Given the description of an element on the screen output the (x, y) to click on. 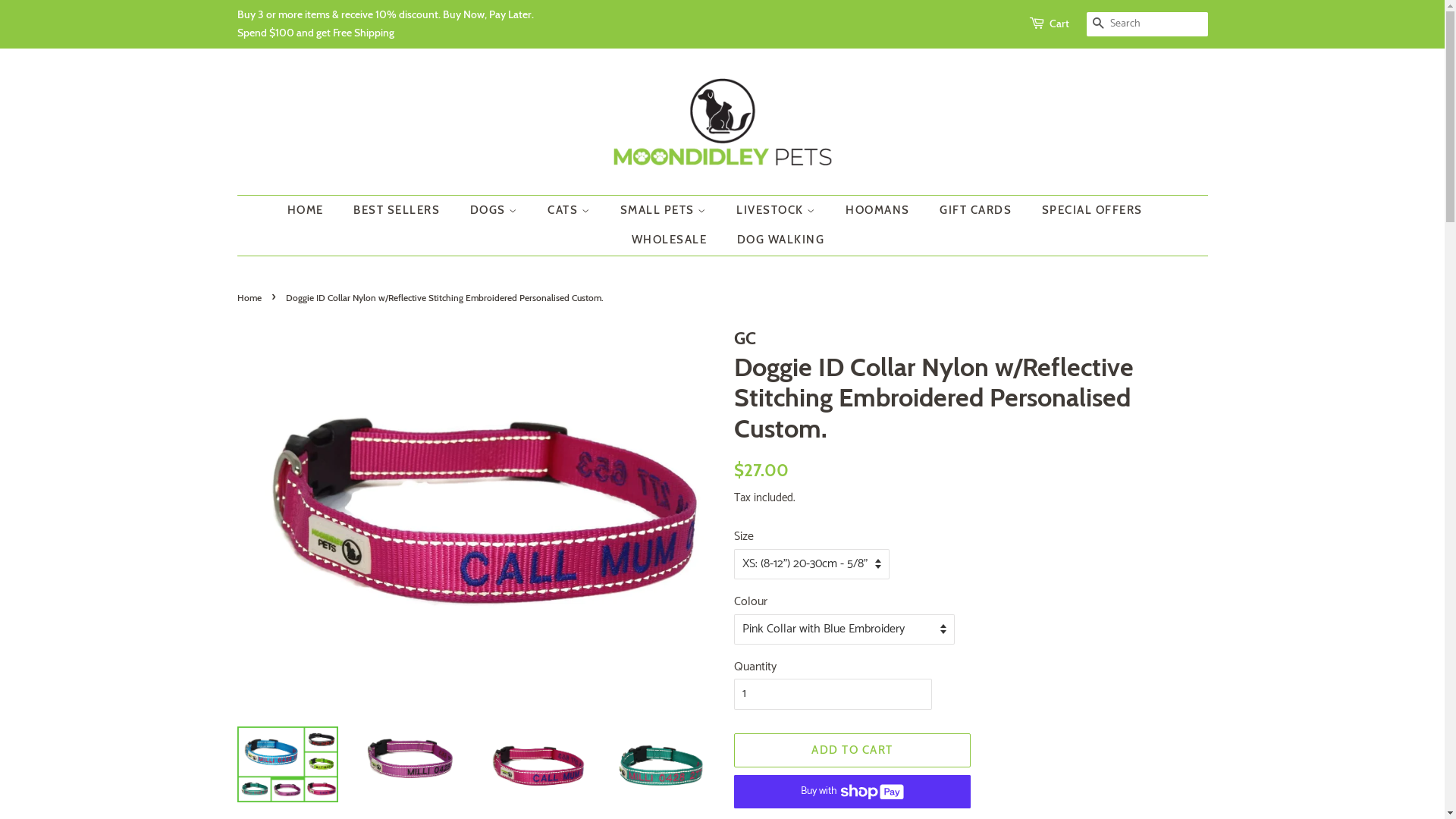
SMALL PETS Element type: text (664, 210)
ADD TO CART Element type: text (852, 750)
HOOMANS Element type: text (879, 210)
HOME Element type: text (312, 210)
Home Element type: text (250, 297)
CATS Element type: text (570, 210)
SEARCH Element type: text (1097, 24)
DOGS Element type: text (495, 210)
SPECIAL OFFERS Element type: text (1093, 210)
LIVESTOCK Element type: text (777, 210)
Cart Element type: text (1059, 24)
GIFT CARDS Element type: text (977, 210)
BEST SELLERS Element type: text (398, 210)
DOG WALKING Element type: text (775, 240)
WHOLESALE Element type: text (671, 240)
